Given the description of an element on the screen output the (x, y) to click on. 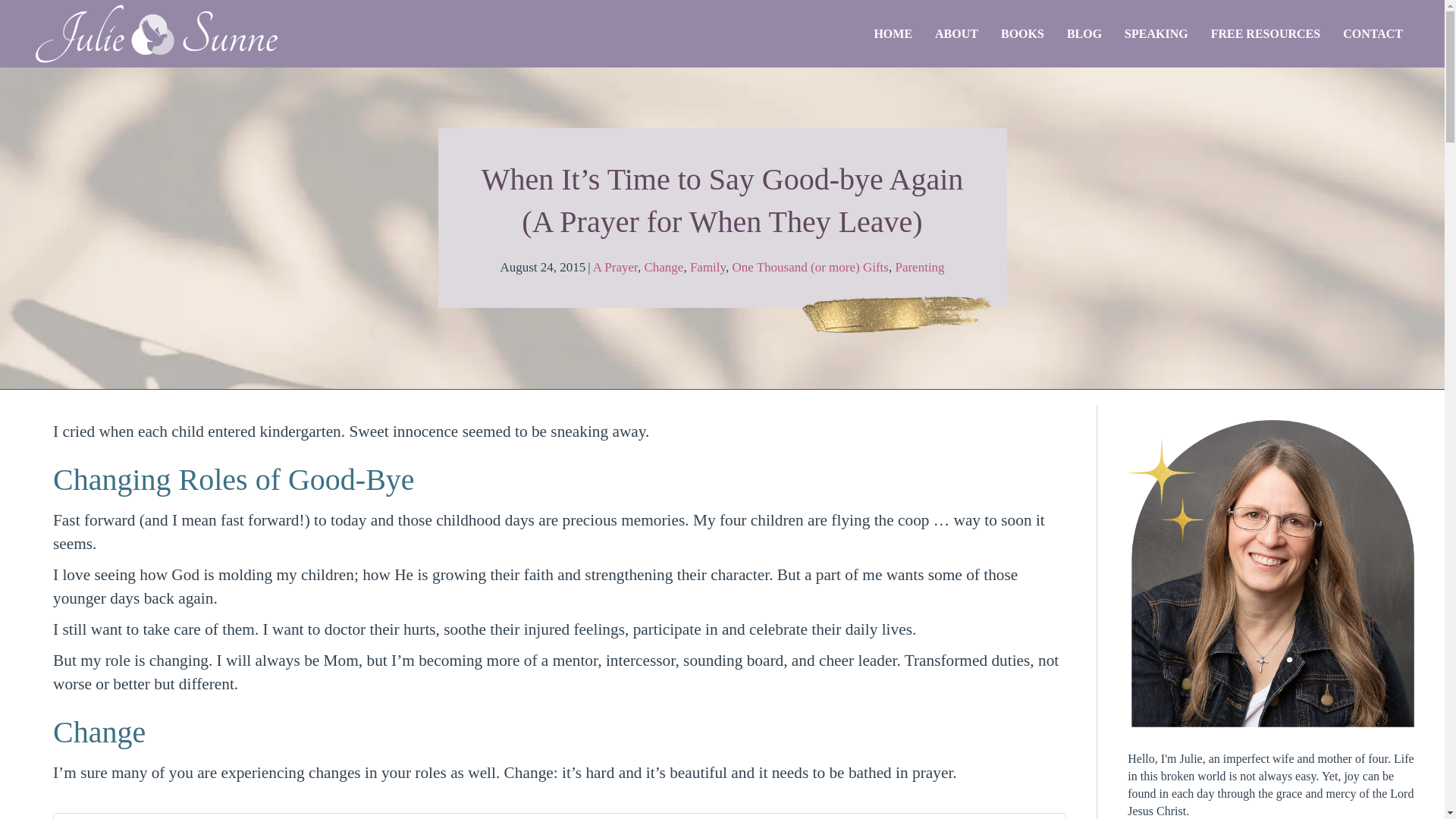
A Prayer (614, 267)
SPEAKING (1156, 33)
BOOKS (1022, 33)
FREE RESOURCES (1265, 33)
Parenting (919, 267)
HOME (892, 33)
Change (662, 267)
Family (707, 267)
ABOUT (956, 33)
CONTACT (1372, 33)
